Given the description of an element on the screen output the (x, y) to click on. 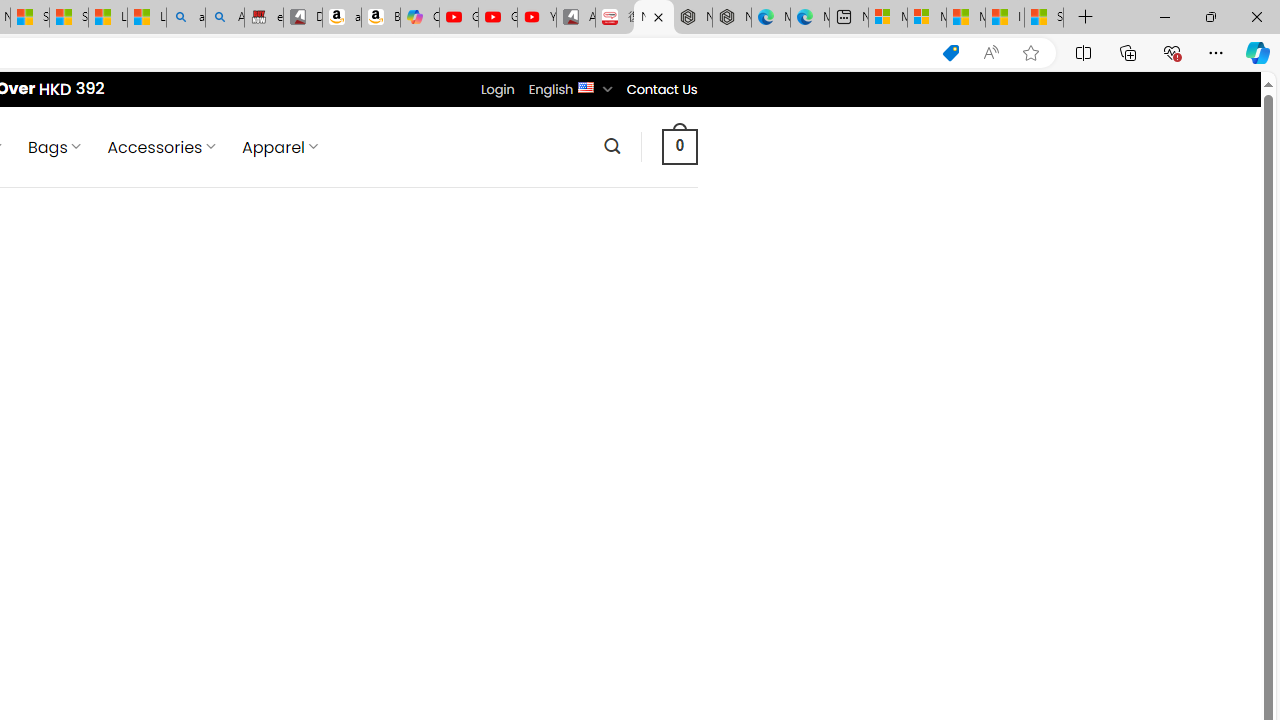
Browser essentials (1171, 52)
  0   (679, 146)
Add this page to favorites (Ctrl+D) (1030, 53)
New Tab (1085, 17)
YouTube Kids - An App Created for Kids to Explore Content (536, 17)
Split screen (1083, 52)
Login (497, 89)
Settings and more (Alt+F) (1215, 52)
New tab (848, 17)
Restore (1210, 16)
Search (612, 146)
Close tab (658, 16)
